Given the description of an element on the screen output the (x, y) to click on. 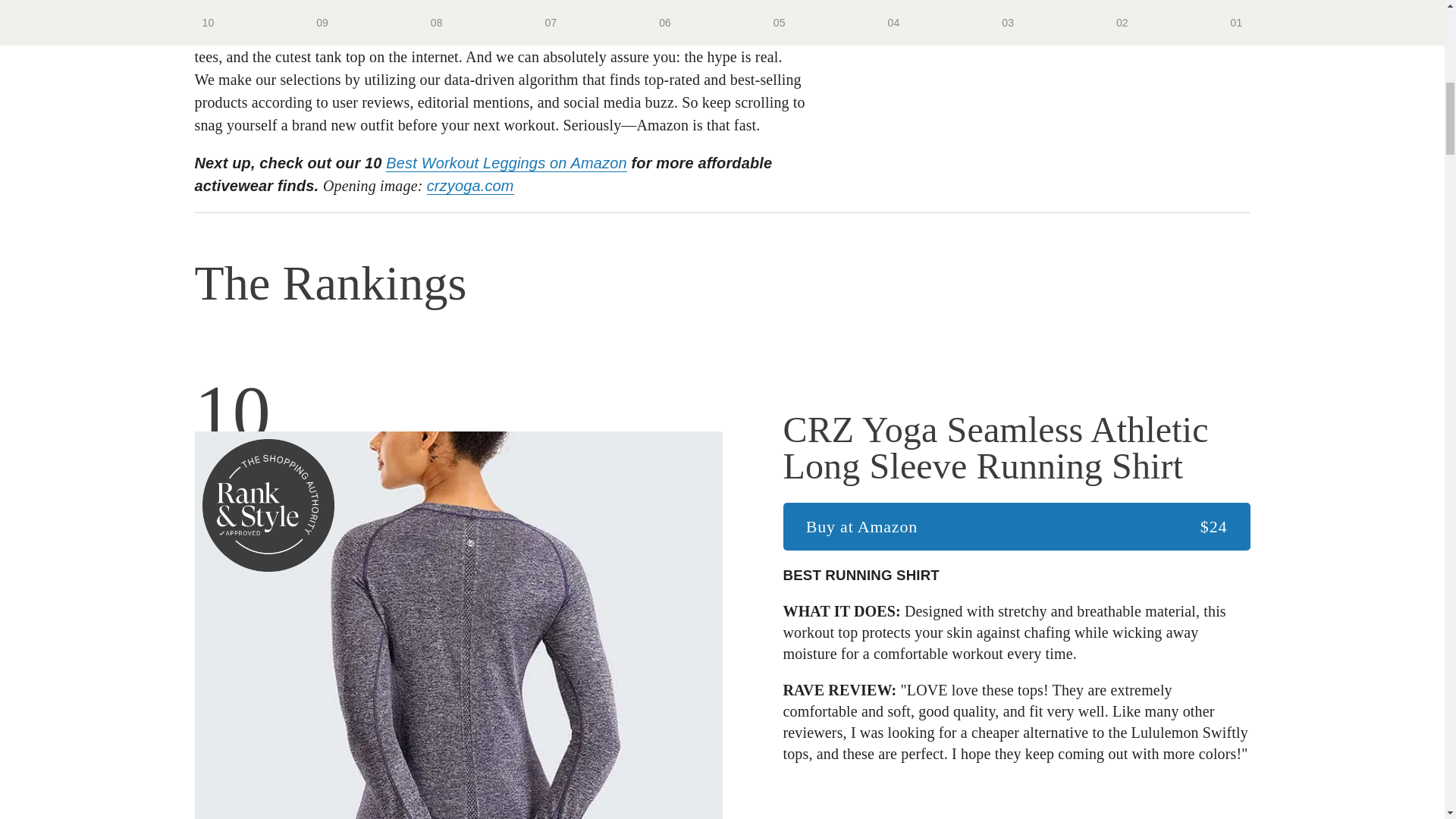
CRZ Yoga Seamless Athletic Long Sleeve Running Shirt (1016, 447)
crzyoga.com (469, 185)
Best Workout Leggings on Amazon (505, 162)
